Given the description of an element on the screen output the (x, y) to click on. 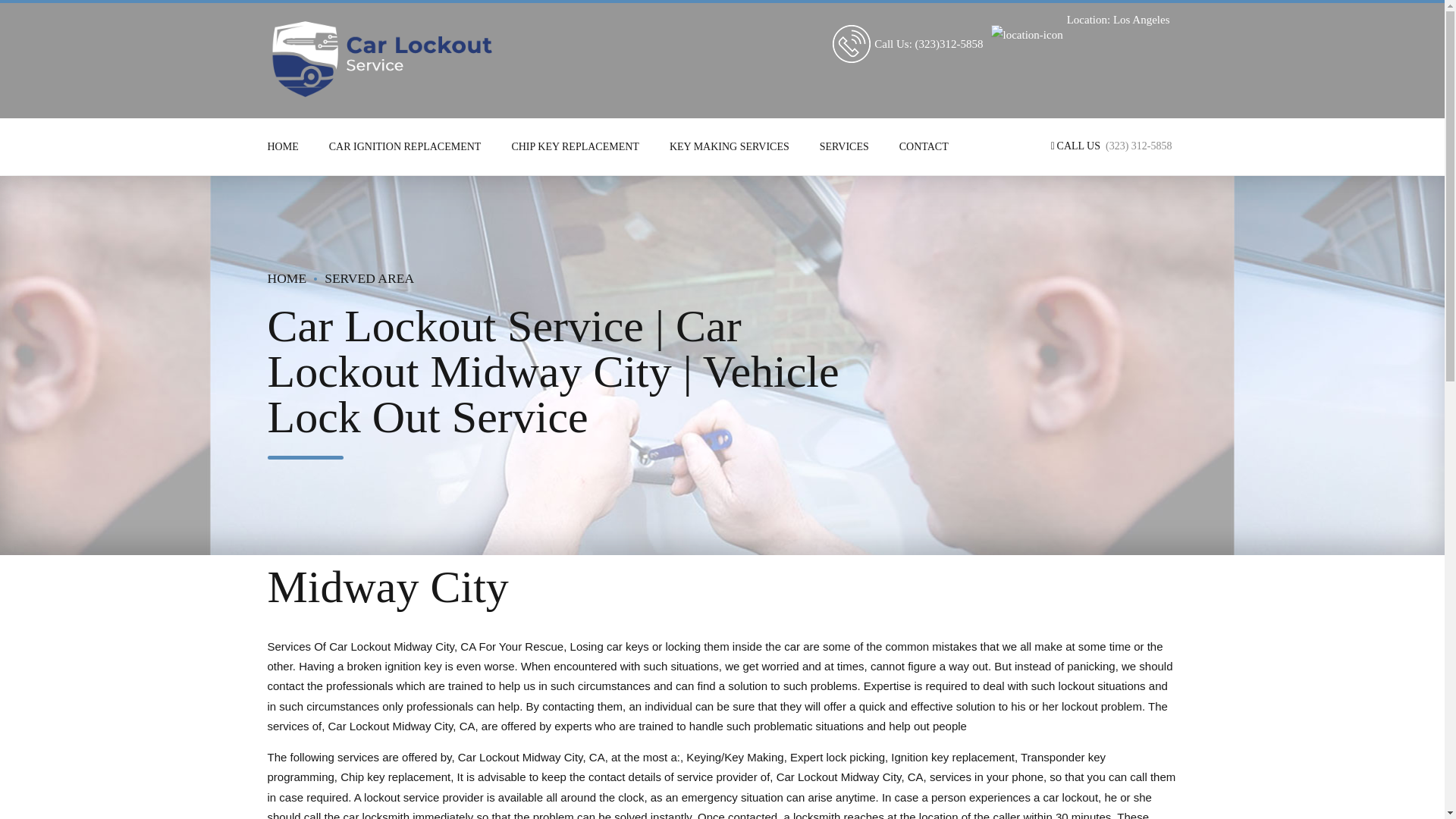
CHIP KEY REPLACEMENT (575, 146)
KEY MAKING SERVICES (729, 146)
SERVED AREA (368, 278)
CAR IGNITION REPLACEMENT (405, 146)
HOME (285, 278)
Location: Los Angeles (1118, 19)
